Given the description of an element on the screen output the (x, y) to click on. 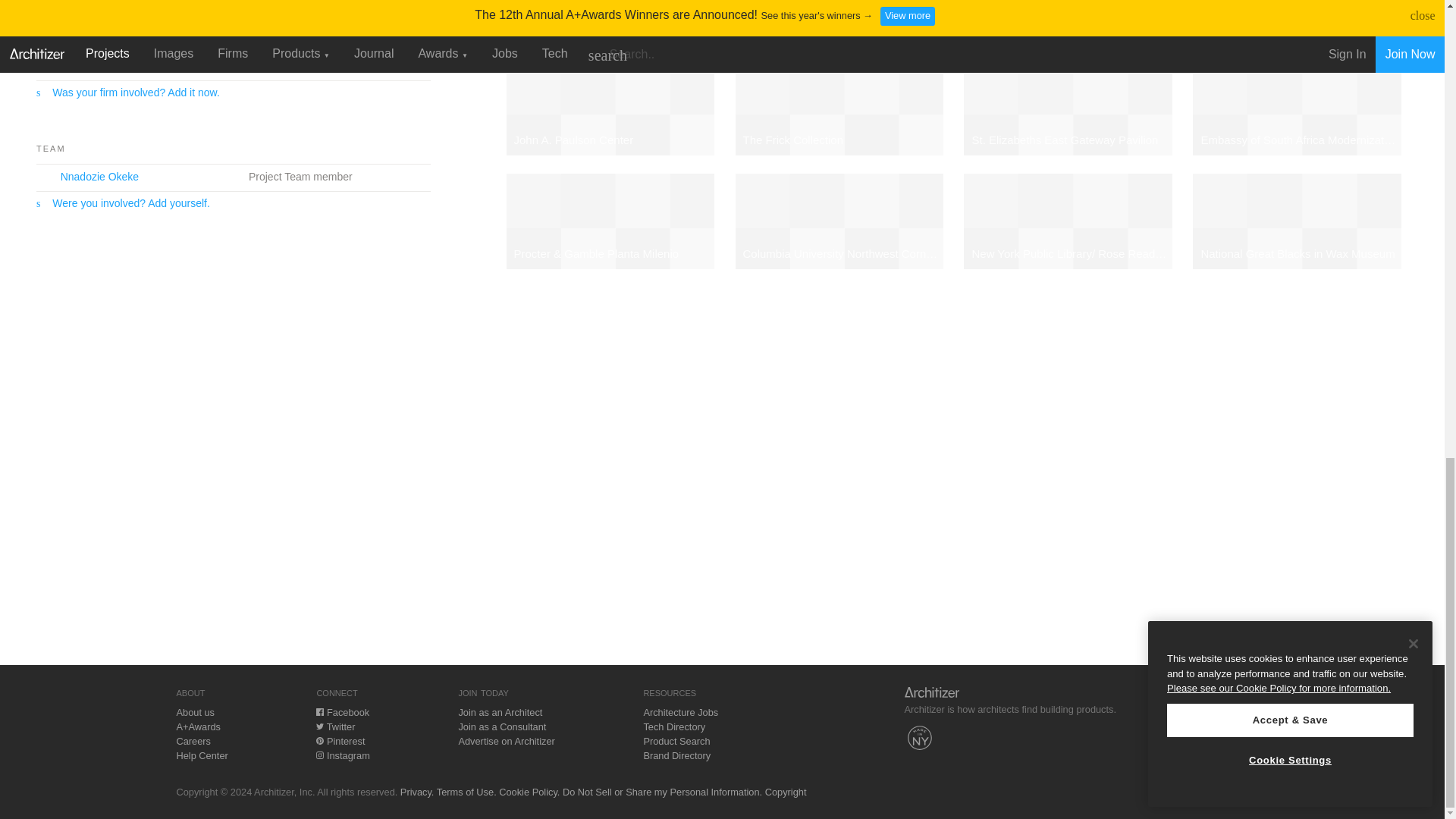
Brand Directory (676, 755)
Pinterest (340, 740)
Join as a Consultant (502, 726)
Tech Directory (673, 726)
Help Center (201, 755)
Product Search (676, 740)
Twitter icon (319, 726)
Facebook (342, 712)
Twitter (335, 726)
Facebook icon (319, 711)
